Given the description of an element on the screen output the (x, y) to click on. 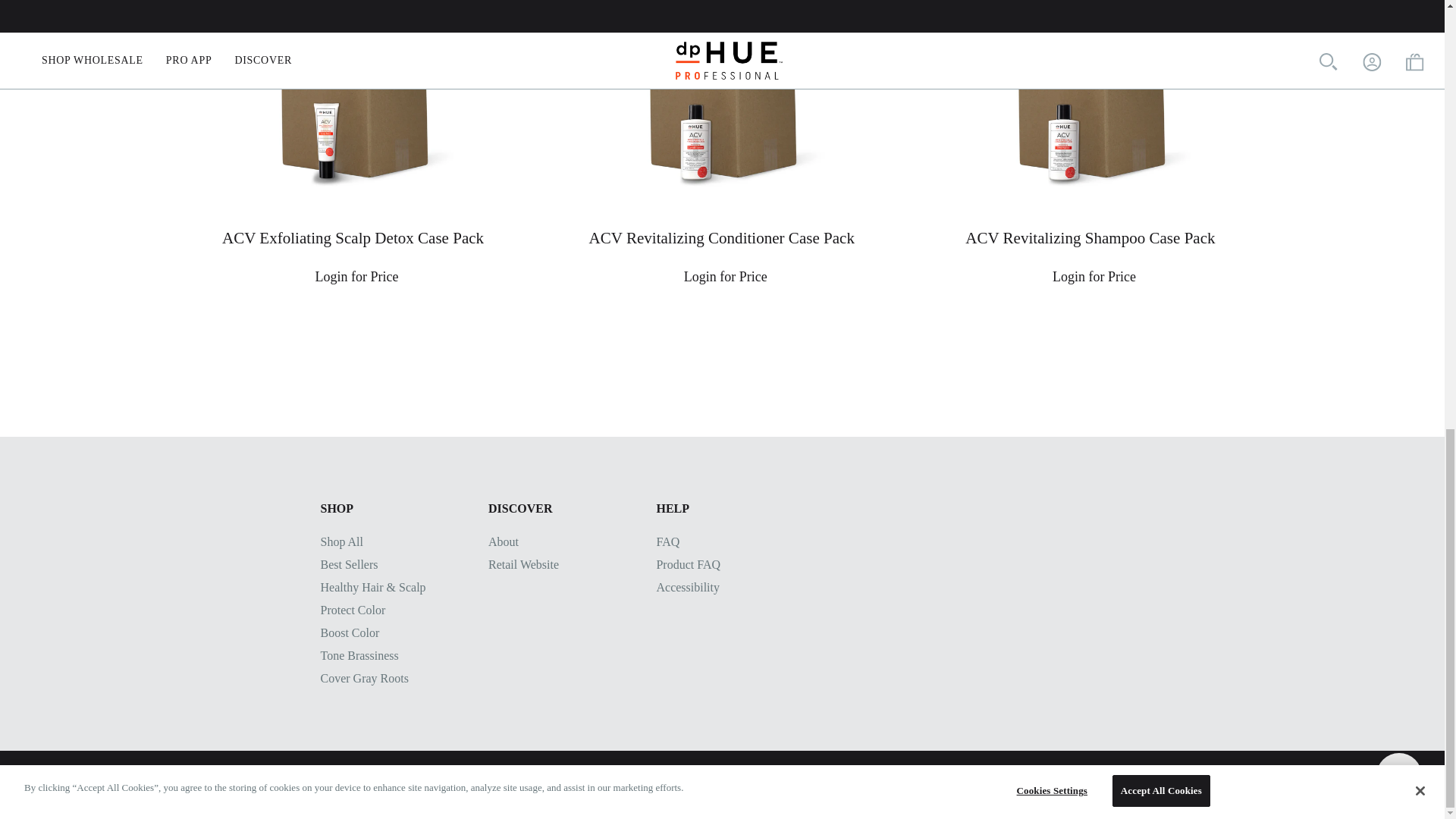
dpHUE on Facebook (327, 783)
dpHUE on Instagram (367, 783)
dpHUE on YouTube (406, 783)
